Given the description of an element on the screen output the (x, y) to click on. 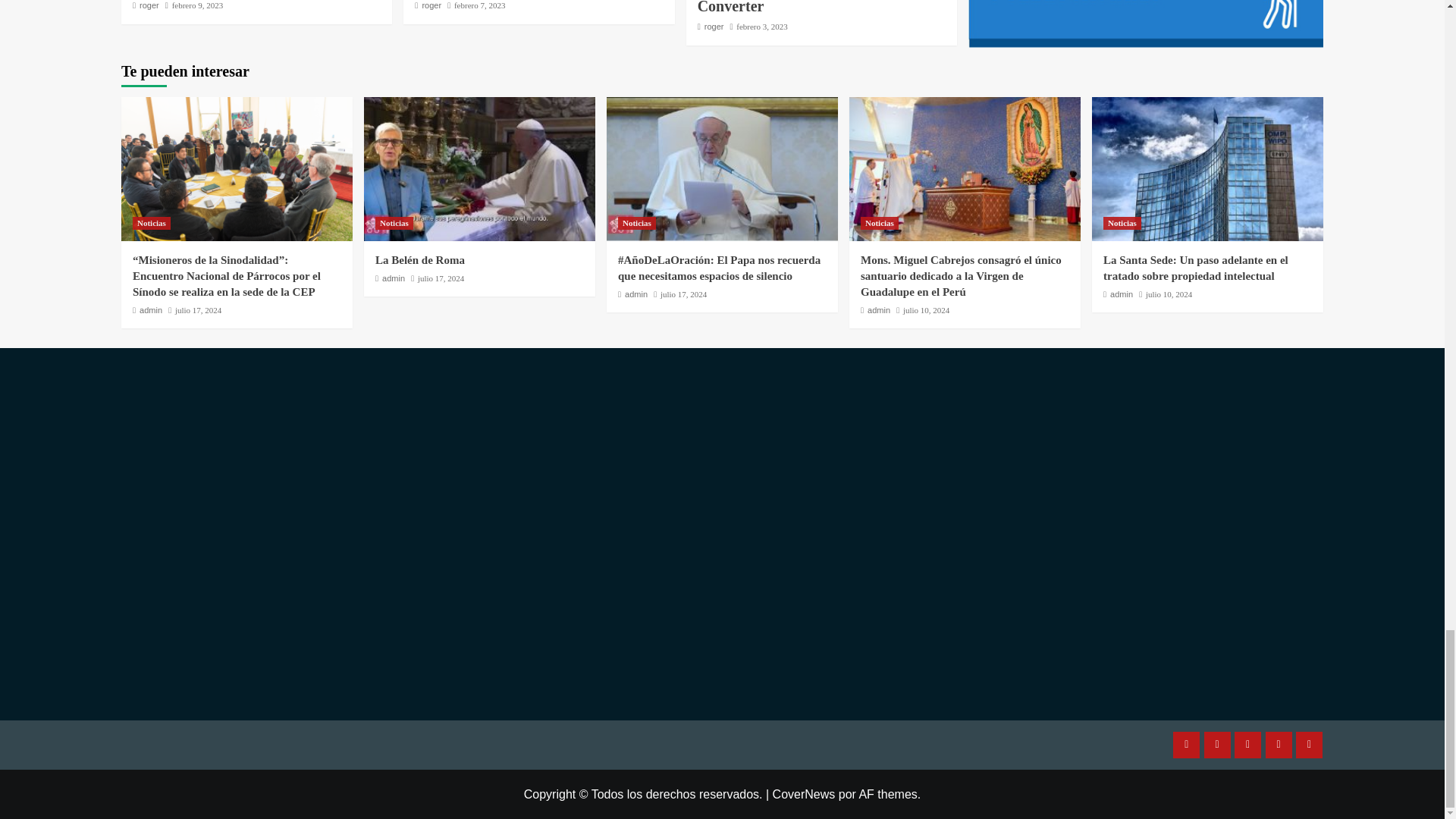
febrero 7, 2023 (479, 4)
febrero 9, 2023 (197, 4)
roger (148, 4)
roger (431, 4)
febrero 3, 2023 (761, 26)
roger (713, 26)
YouTube video player (316, 530)
